Given the description of an element on the screen output the (x, y) to click on. 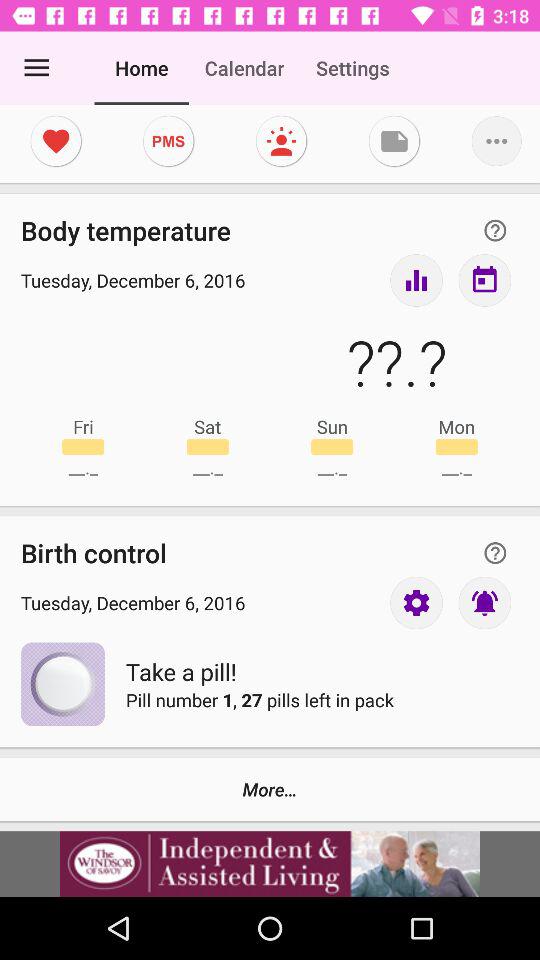
take my temperature (416, 280)
